Given the description of an element on the screen output the (x, y) to click on. 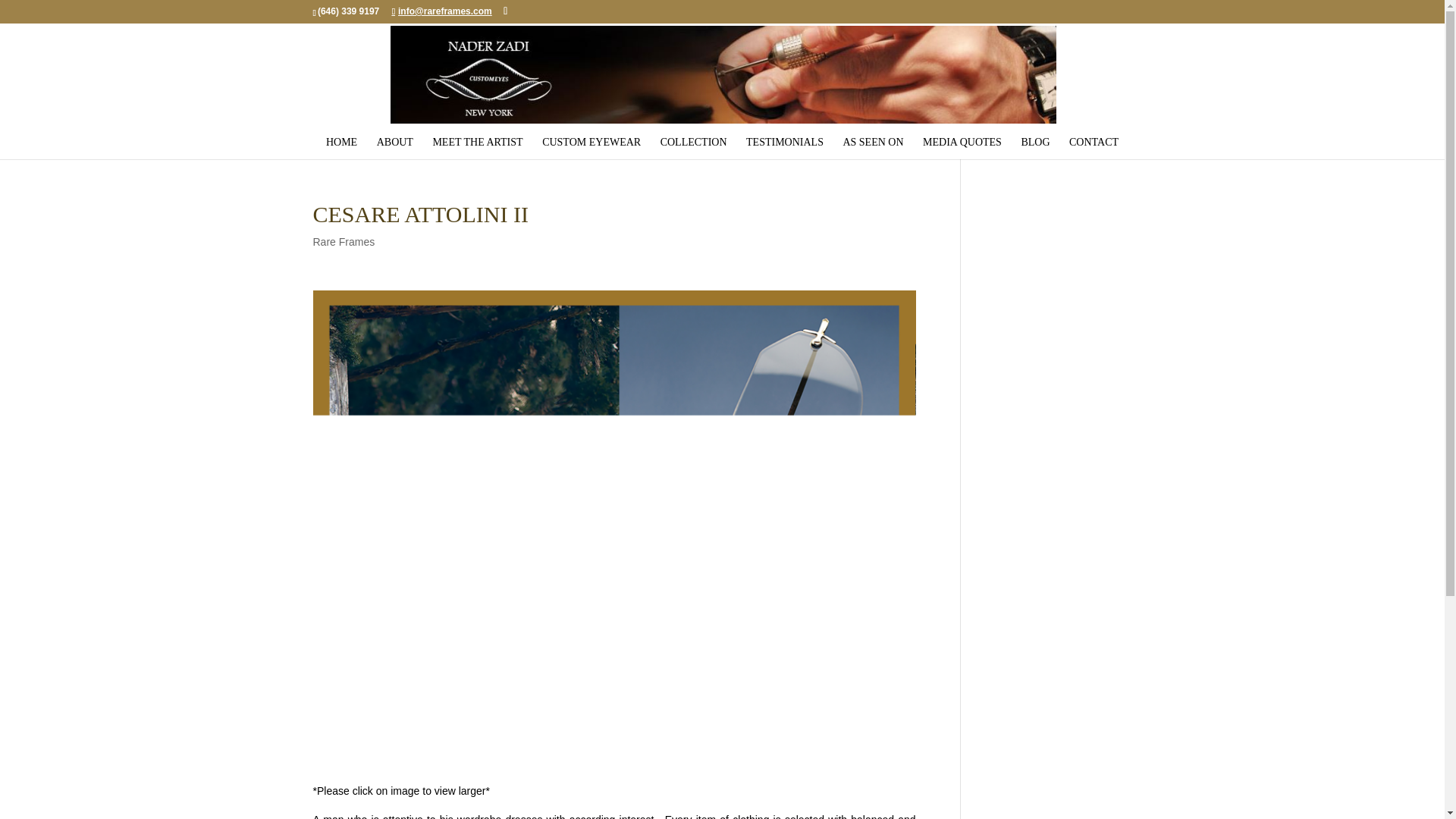
COLLECTION (693, 142)
CUSTOM EYEWEAR (590, 142)
TESTIMONIALS (784, 142)
ABOUT (395, 142)
HOME (341, 142)
MEET THE ARTIST (477, 142)
Rare Frames (343, 241)
CONTACT (1093, 142)
AS SEEN ON (872, 142)
MEDIA QUOTES (962, 142)
